Given the description of an element on the screen output the (x, y) to click on. 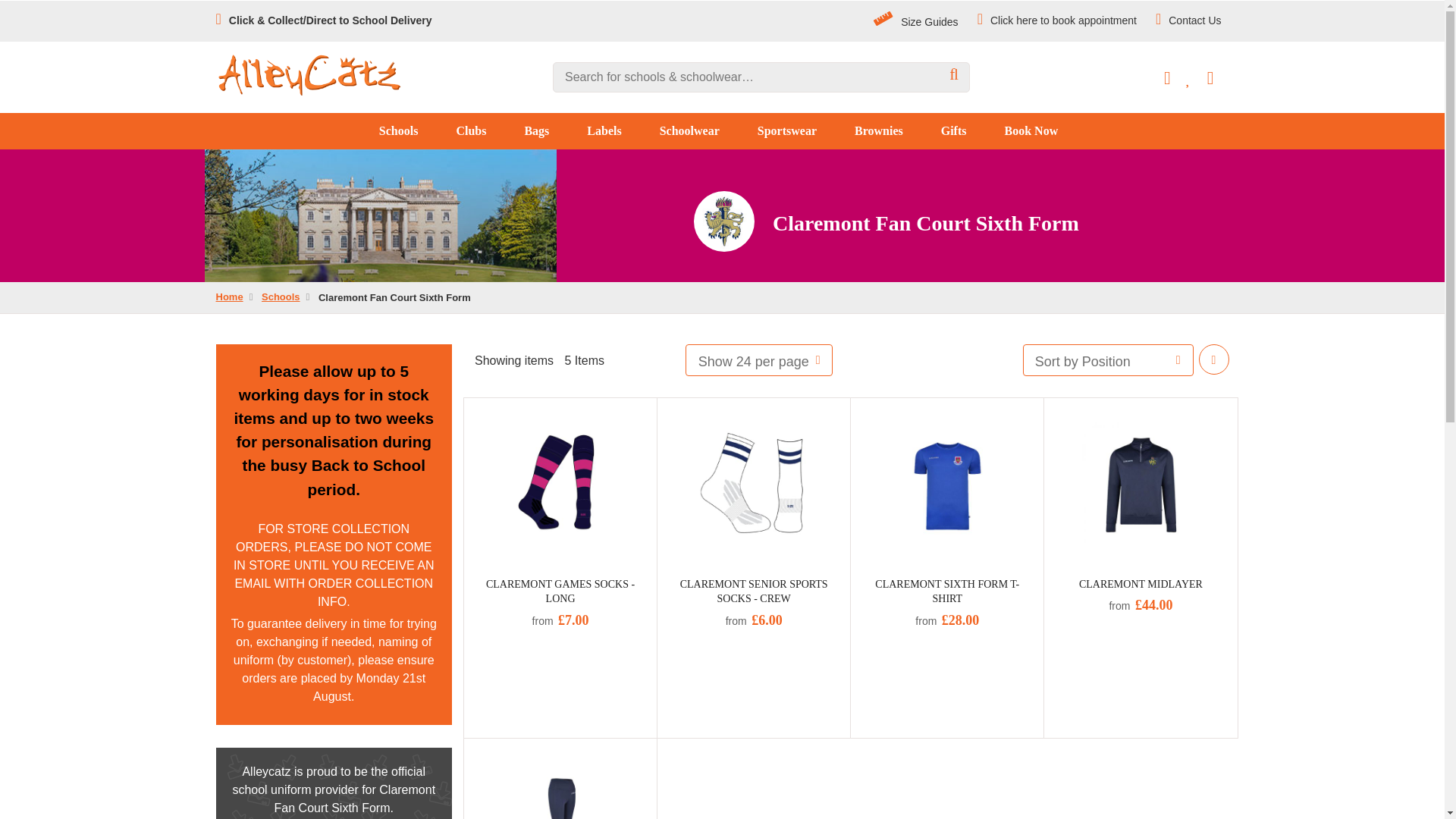
Quick View (486, 751)
Quick View (872, 411)
Welcome to AlleyCatz (309, 74)
Fitting Appointment (1056, 20)
Quick View (679, 411)
Schools (403, 131)
Quick View (1066, 411)
Go to Home Page (229, 296)
Quick View (486, 411)
 Click here to book appointment (1056, 20)
Set Descending Direction (1213, 358)
 Size Guides (915, 21)
 Contact Us (1188, 20)
